Given the description of an element on the screen output the (x, y) to click on. 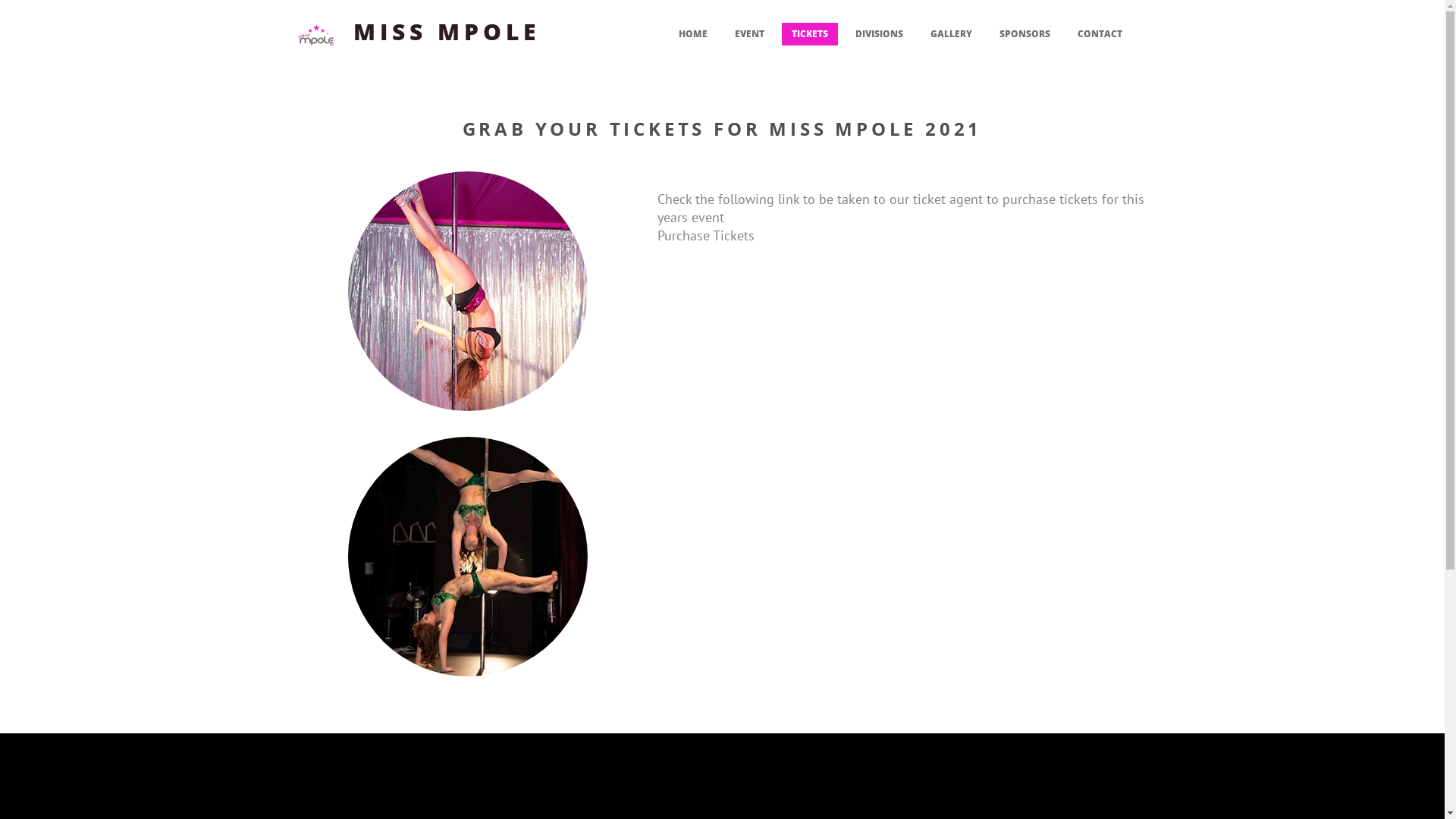
CONTACT Element type: text (1099, 33)
GALLERY Element type: text (951, 33)
SPONSORS Element type: text (1023, 33)
TICKETS Element type: text (809, 33)
EVENT Element type: text (749, 33)
DIVISIONS Element type: text (878, 33)
MISS MPOLE Element type: text (446, 31)
HOME Element type: text (692, 33)
